Given the description of an element on the screen output the (x, y) to click on. 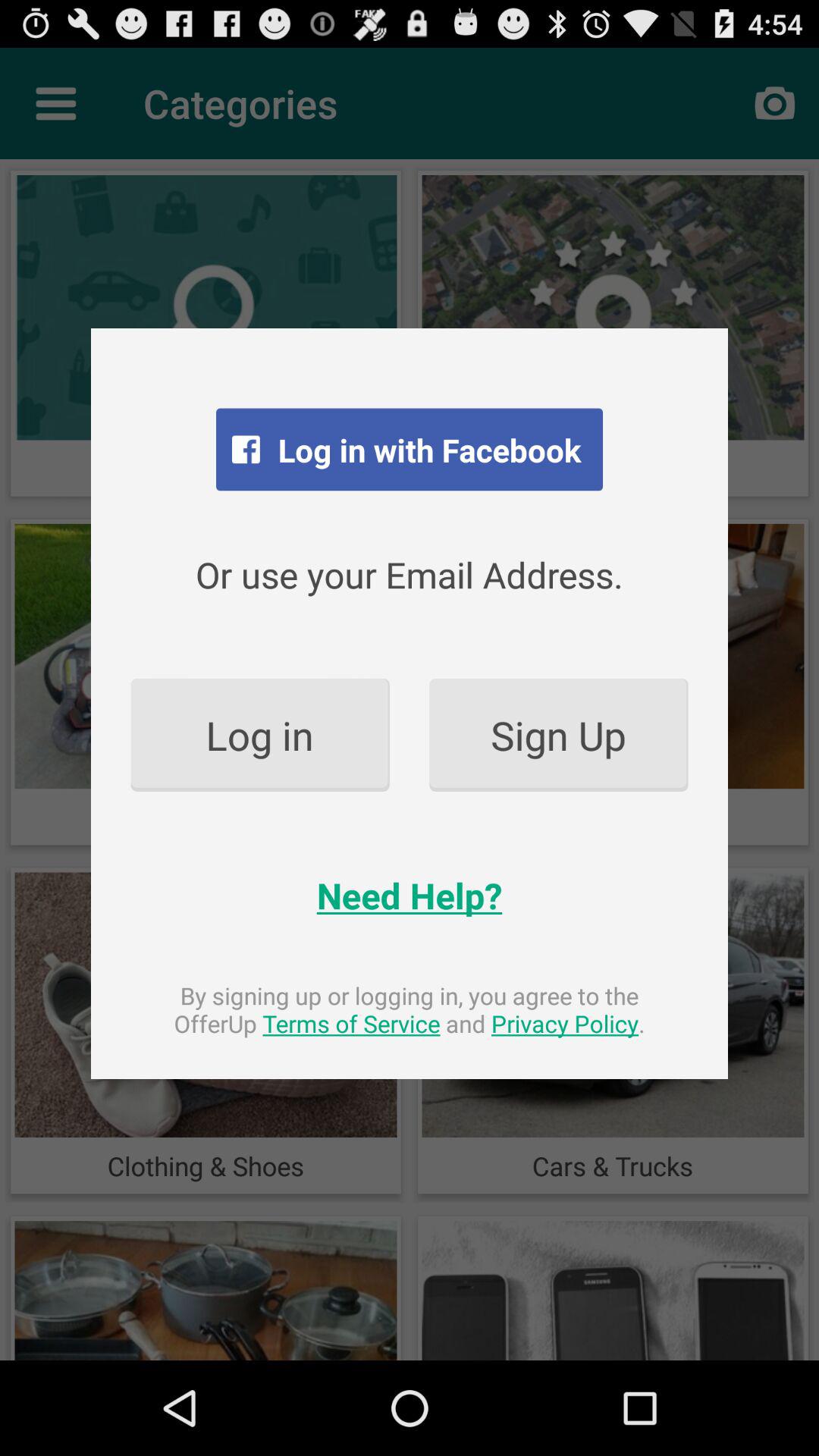
click the item to the right of the log in item (558, 734)
